Given the description of an element on the screen output the (x, y) to click on. 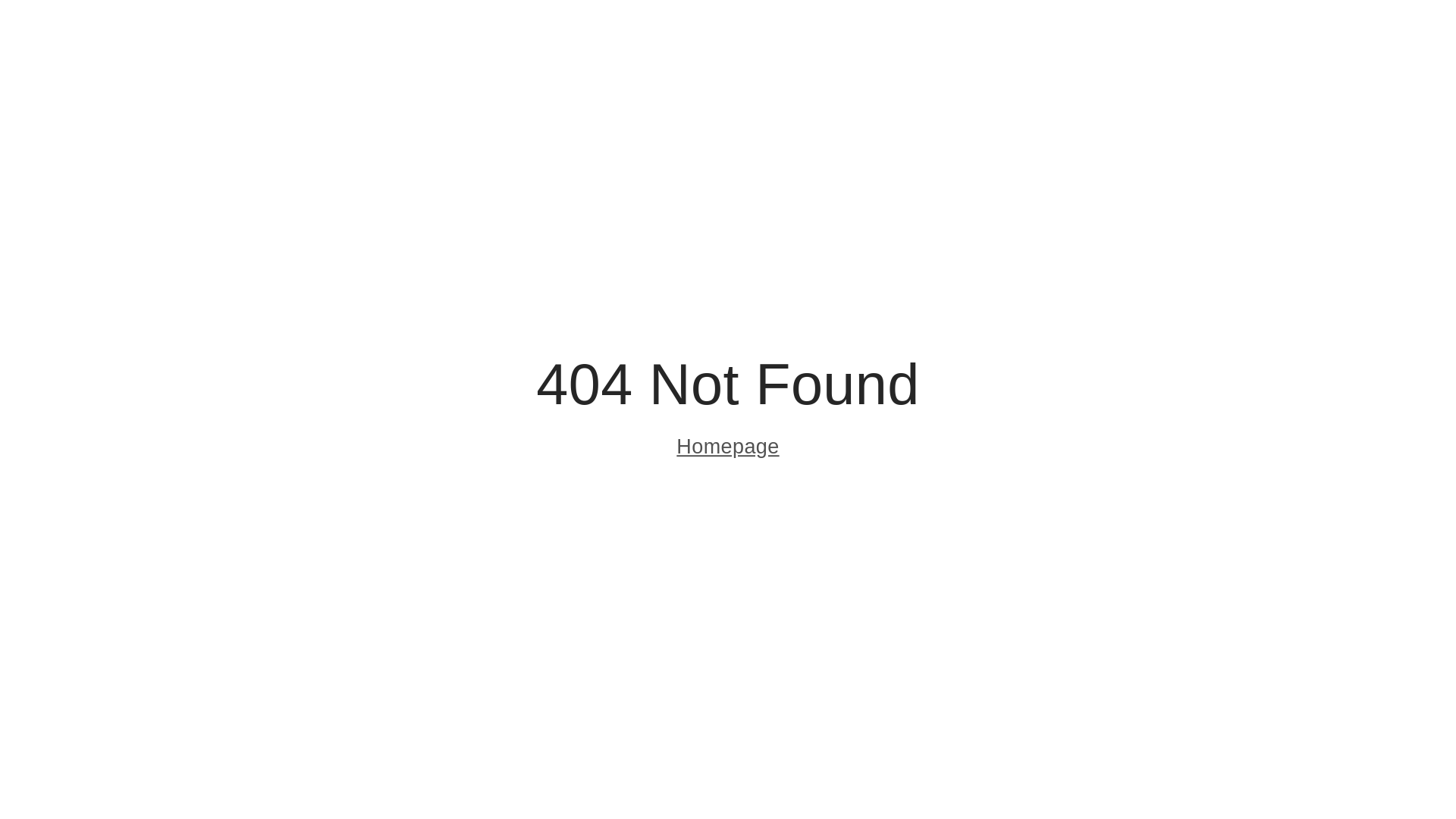
Homepage Element type: text (727, 448)
